Given the description of an element on the screen output the (x, y) to click on. 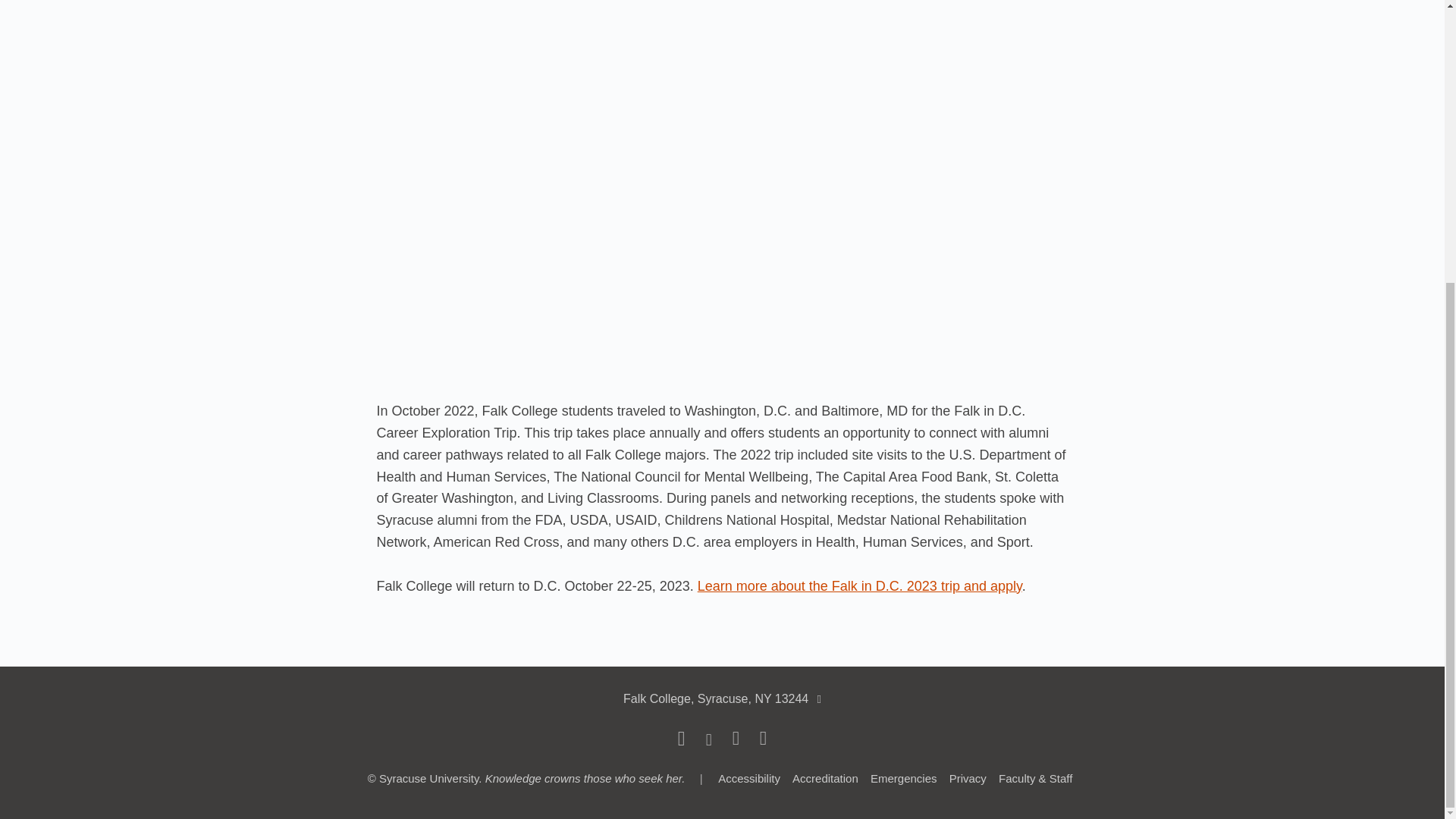
Falk College, Syracuse, NY 13244 (715, 698)
Syracuse University (428, 778)
Link to address on Google Maps (715, 698)
Learn more about the Falk in D.C. 2023 trip and apply (859, 585)
